Given the description of an element on the screen output the (x, y) to click on. 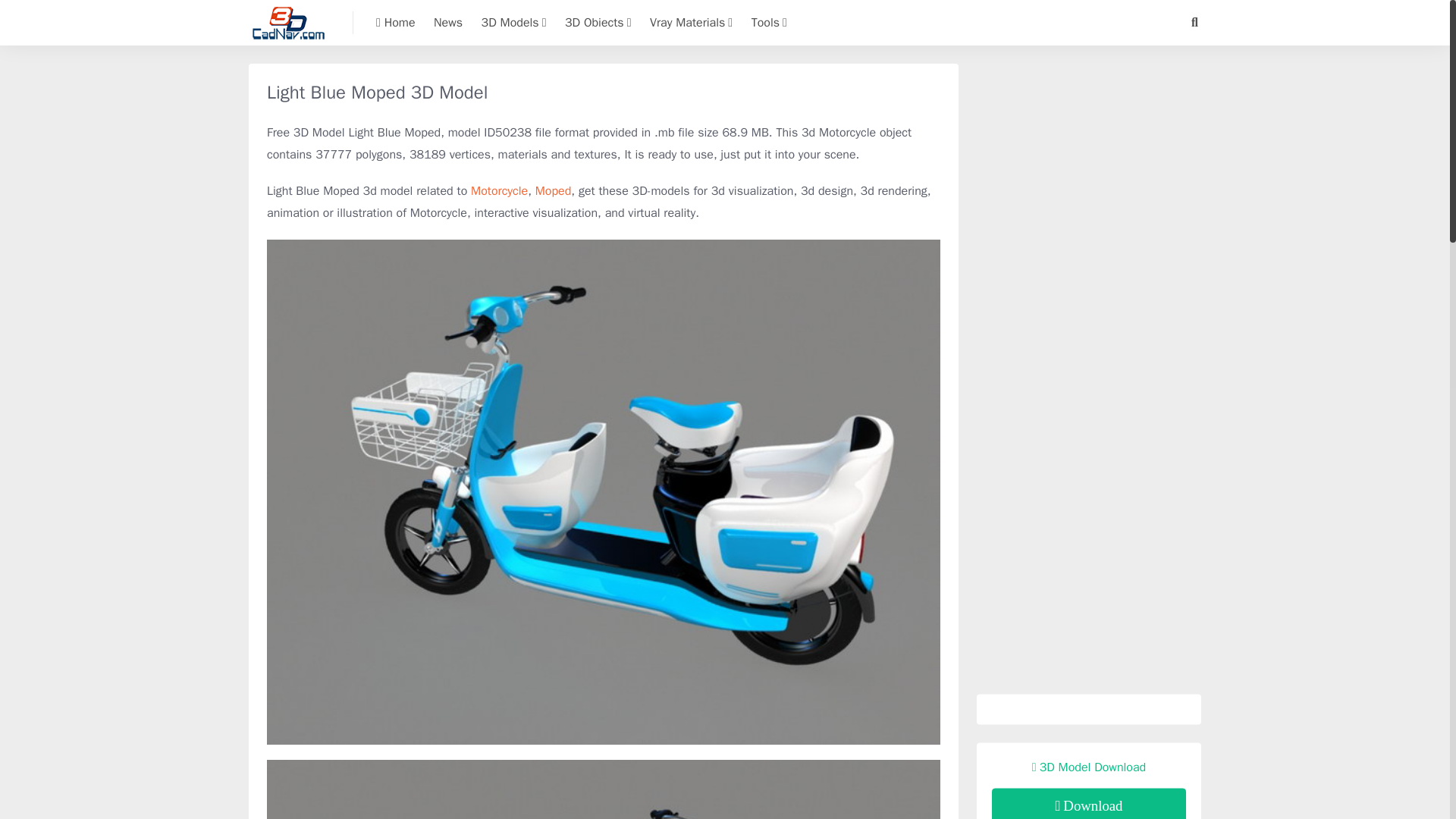
3D Obiects (597, 22)
download Light Blue Moped 3d model (1088, 803)
3D Models (514, 22)
Moped 3d model (553, 191)
Motorcycle 3d model (498, 191)
